Given the description of an element on the screen output the (x, y) to click on. 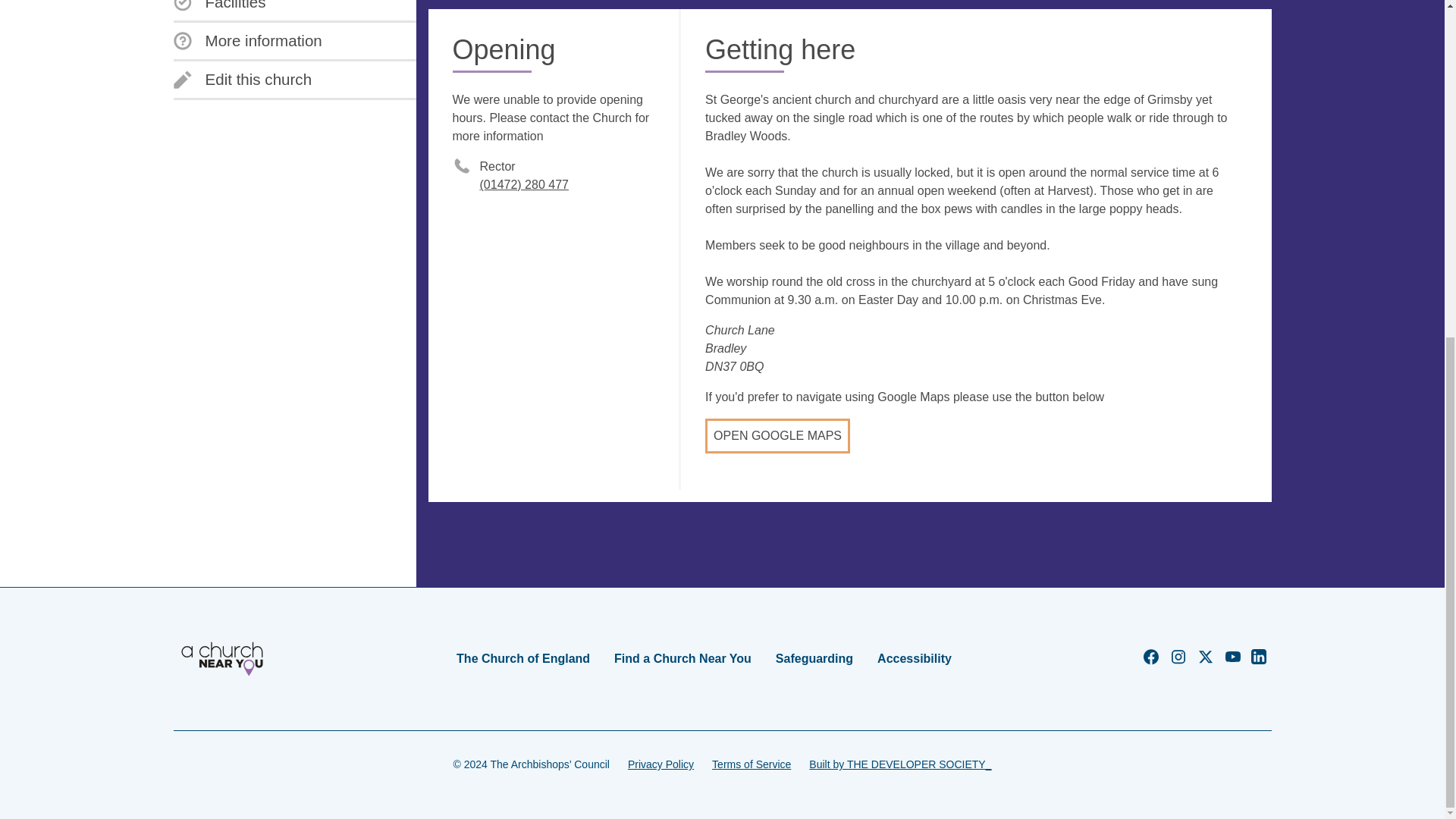
ACNY home (221, 658)
More information (247, 40)
Facilities (218, 5)
